Given the description of an element on the screen output the (x, y) to click on. 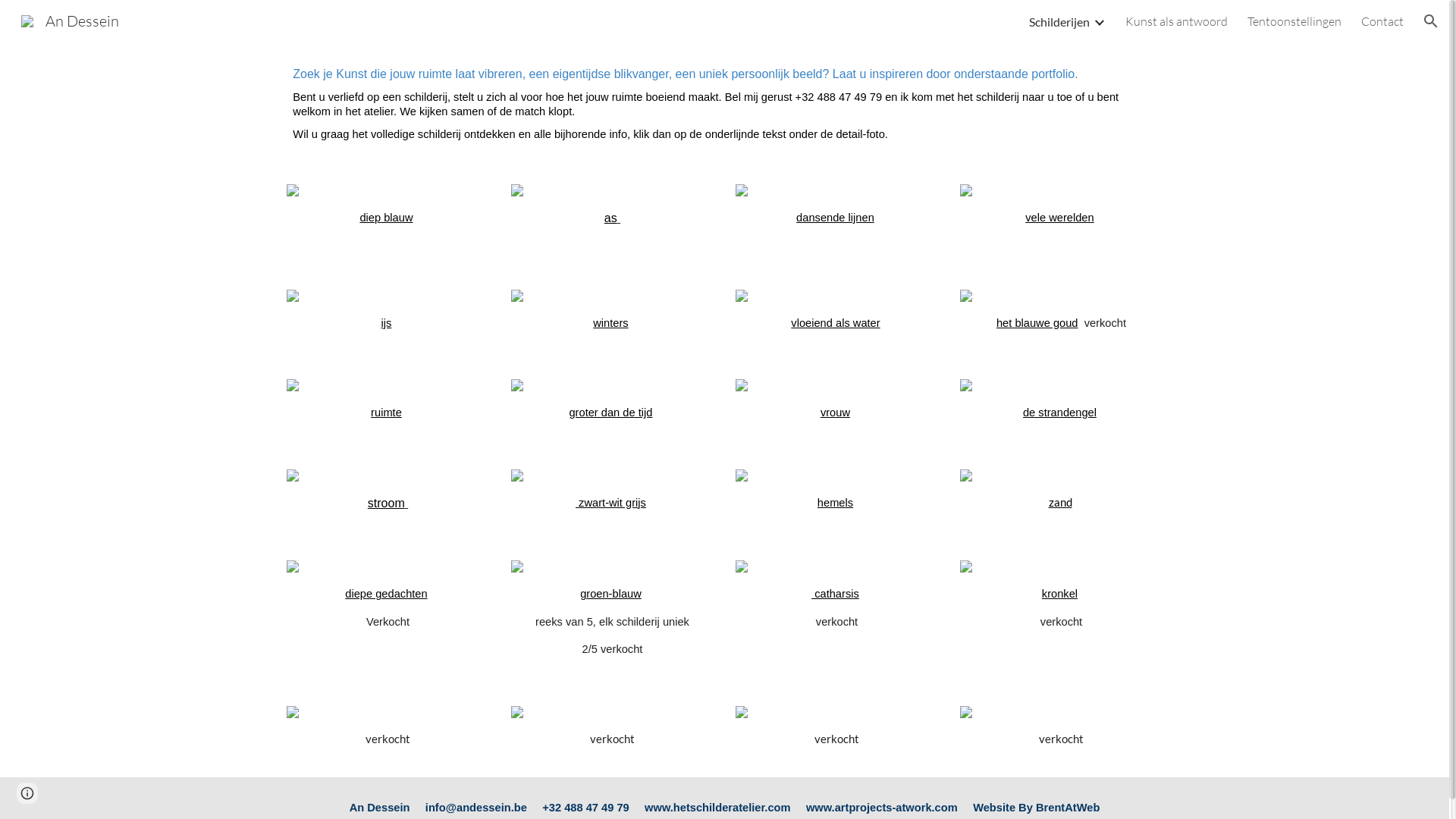
Kunst als antwoord Element type: text (1176, 20)
www.hetschilderatelier.com Element type: text (717, 807)
ruimte Element type: text (385, 412)
hemels Element type: text (835, 502)
groter dan de tijd Element type: text (610, 412)
Contact Element type: text (1382, 20)
diep blauw Element type: text (385, 217)
 zwart-wit grijs Element type: text (610, 502)
info@andessein.be Element type: text (476, 807)
dansende lijnen Element type: text (835, 217)
as Element type: text (610, 217)
vloeiend als water Element type: text (834, 322)
vele werelden Element type: text (1059, 217)
groen-blauw Element type: text (610, 593)
kronkel Element type: text (1059, 593)
stroom Element type: text (385, 502)
An Dessein Element type: text (70, 18)
Expand/Collapse Element type: hover (1098, 20)
diepe gedachten Element type: text (385, 593)
Tentoonstellingen Element type: text (1294, 20)
het blauwe goud Element type: text (1037, 322)
www.artprojects-atwork.com Element type: text (881, 807)
 catharsis Element type: text (835, 593)
de strandengel Element type: text (1059, 412)
zand Element type: text (1059, 501)
winters Element type: text (610, 322)
BrentAtWeb Element type: text (1067, 807)
vrouw Element type: text (835, 412)
Schilderijen Element type: text (1059, 20)
ijs Element type: text (386, 322)
